Given the description of an element on the screen output the (x, y) to click on. 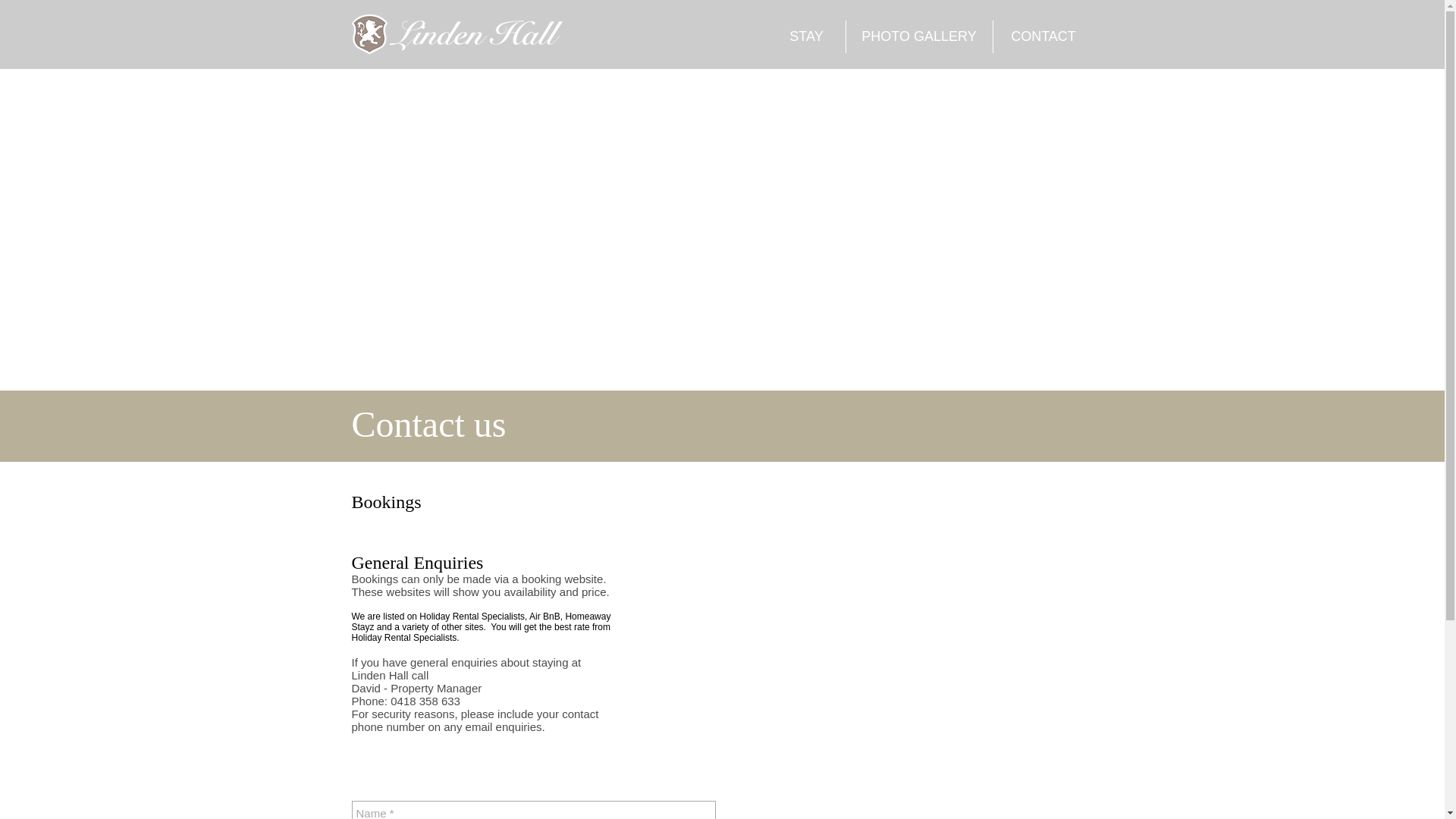
PHOTO GALLERY (918, 36)
LindenHall-V2-REVERSE.png (457, 36)
STAY (805, 36)
CONTACT (1043, 36)
